Given the description of an element on the screen output the (x, y) to click on. 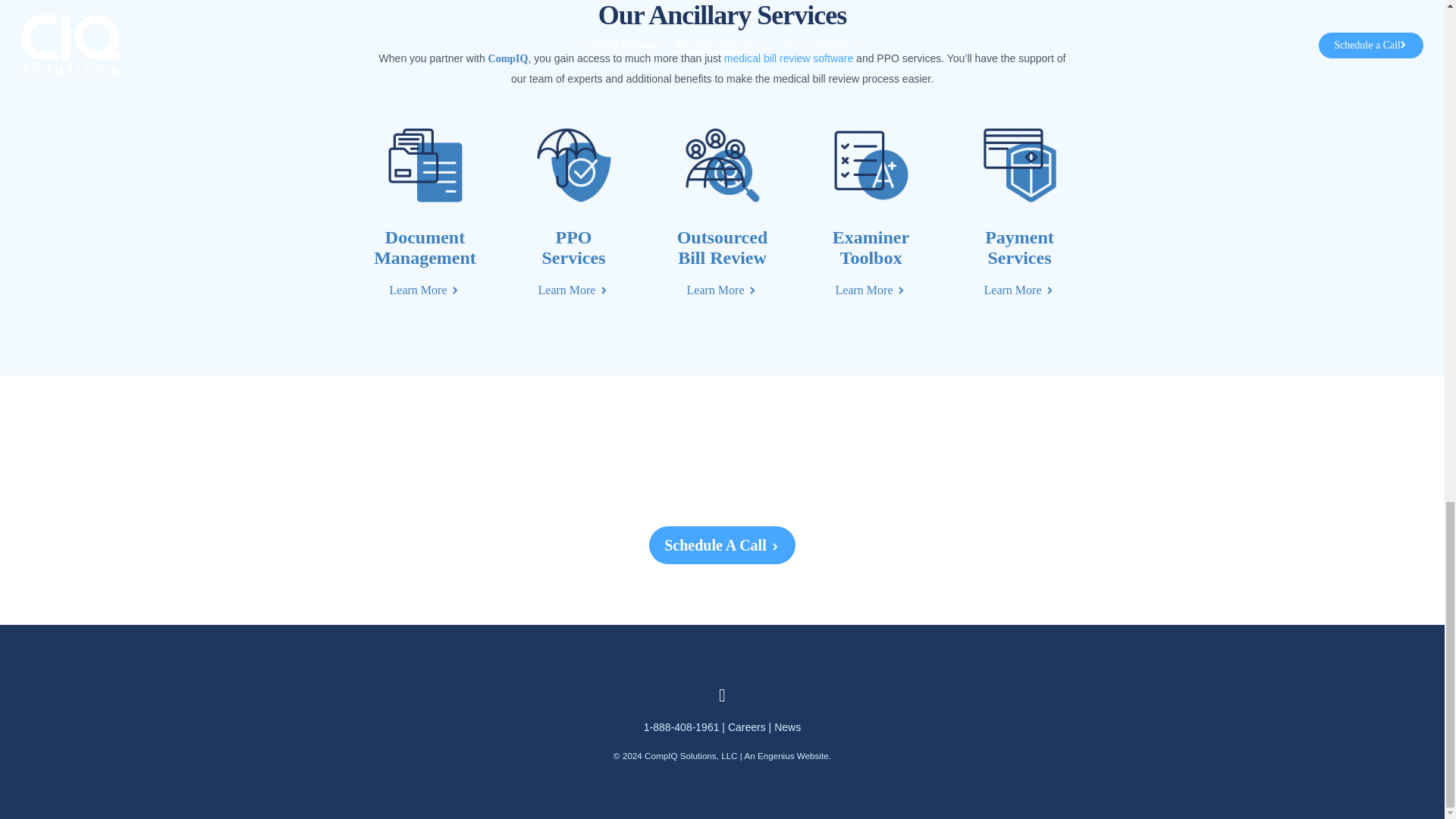
Learn More (425, 290)
Document Management (425, 247)
Payment Services (1019, 247)
Learn More (574, 290)
Outsourced Bill Review (722, 247)
Schedule A Call (721, 545)
Learn More (871, 290)
PPO Services (573, 247)
medical bill review software (788, 58)
Learn More (722, 290)
Learn More (1019, 290)
Examiner Toolbox (870, 247)
